Given the description of an element on the screen output the (x, y) to click on. 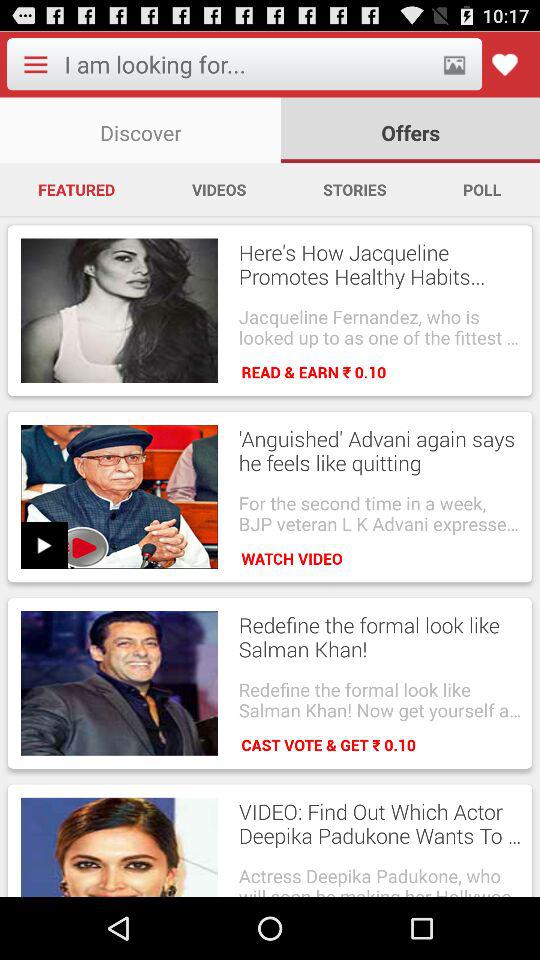
turn off the app to the right of stories app (482, 189)
